Given the description of an element on the screen output the (x, y) to click on. 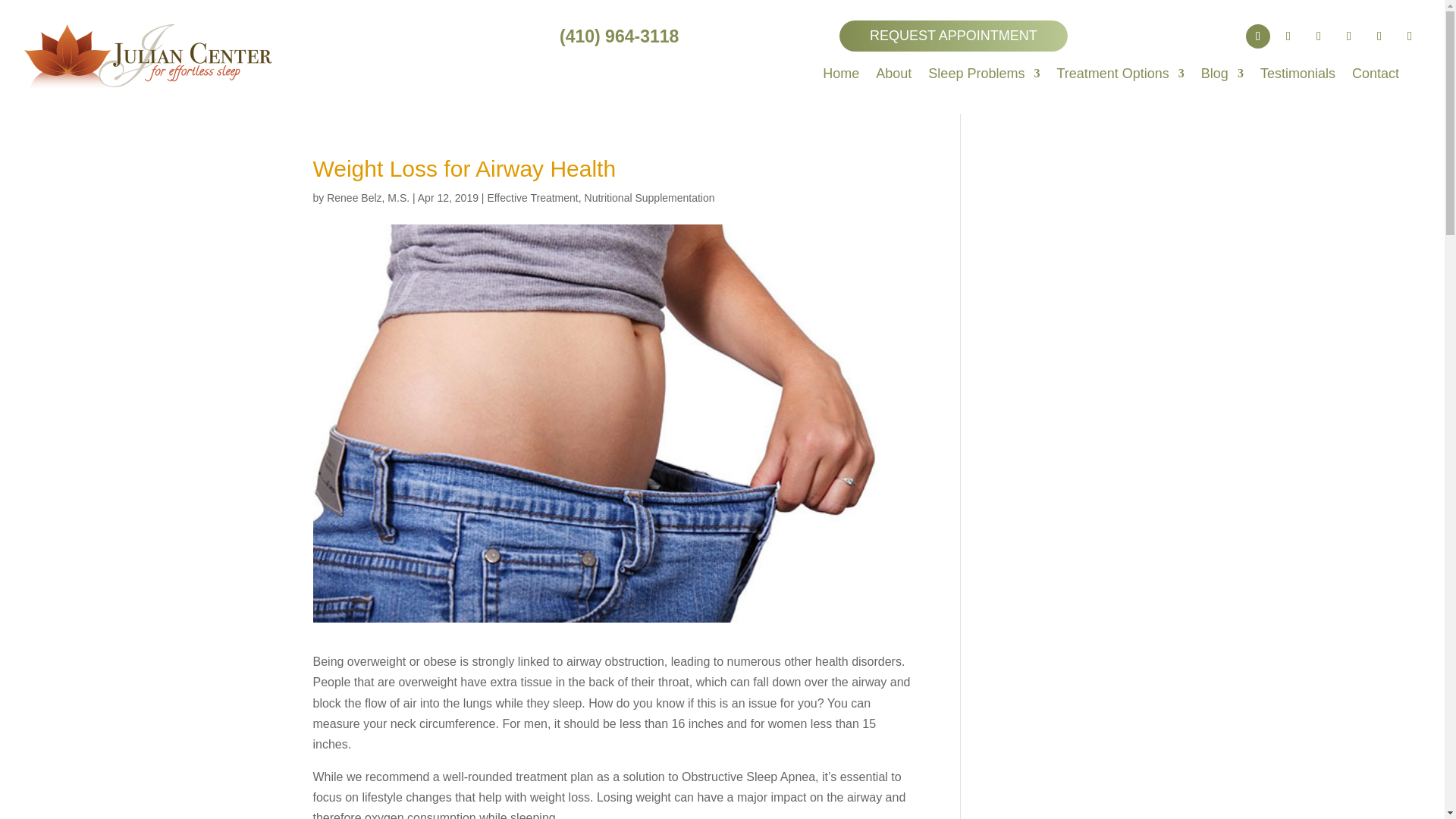
Blog (1222, 76)
Follow on Facebook (1257, 36)
logo-colored-transparent (144, 61)
Contact (1375, 76)
Follow on LinkedIn (1409, 36)
Follow on X (1288, 36)
Sleep Problems (983, 76)
Posts by Renee Belz, M.S. (367, 197)
About (893, 76)
Follow on Yelp (1318, 36)
REQUEST APPOINTMENT (953, 35)
Testimonials (1297, 76)
Treatment Options (1120, 76)
Follow on Instagram (1379, 36)
Follow on Google (1348, 36)
